Given the description of an element on the screen output the (x, y) to click on. 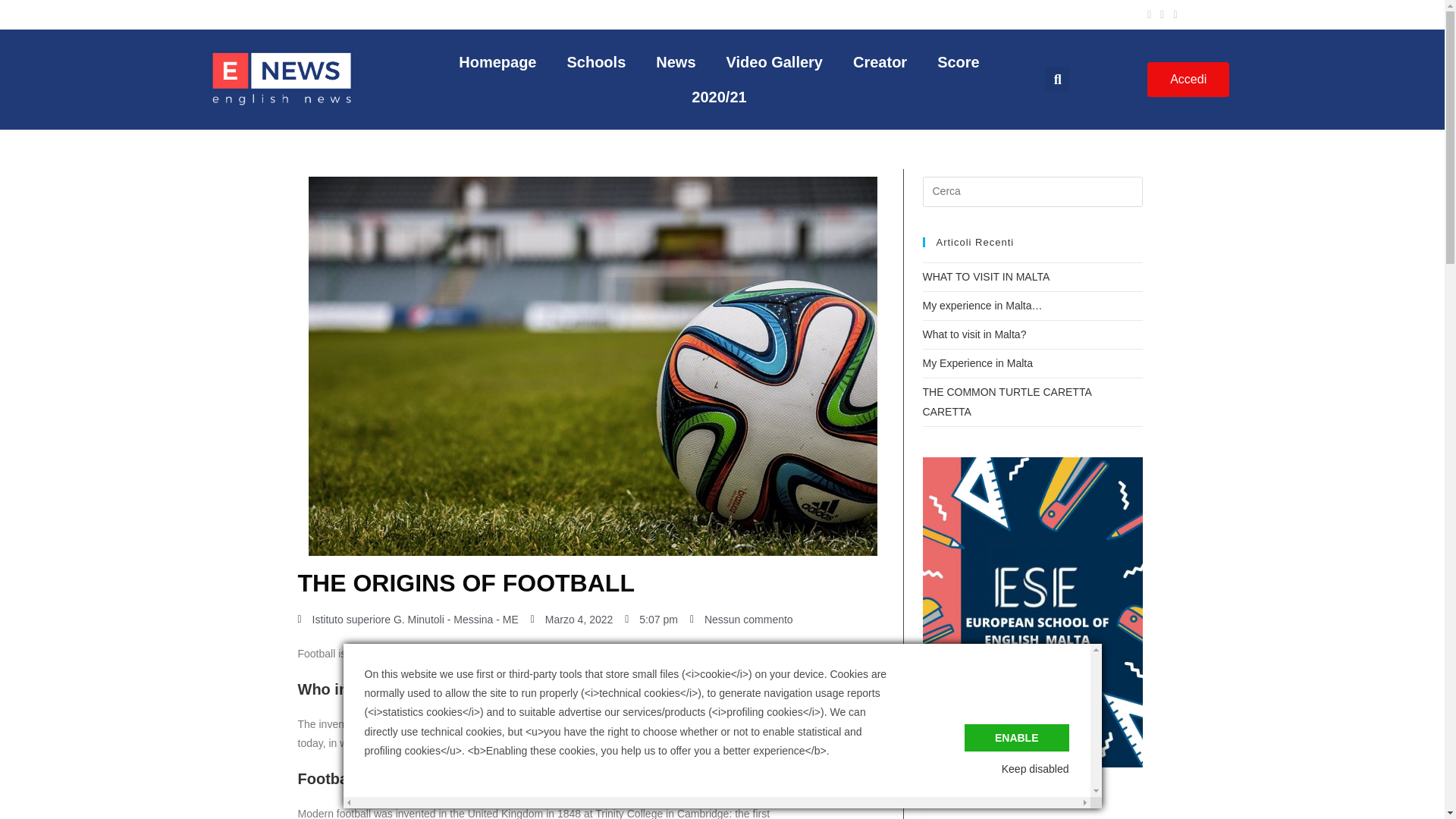
Marzo 4, 2022 (571, 619)
Istituto superiore G. Minutoli - Messina - ME (407, 619)
Creator (879, 62)
Accedi (1187, 79)
Homepage (497, 62)
Nessun commento (741, 619)
Video Gallery (774, 62)
News (675, 62)
WHAT TO VISIT IN MALTA (985, 276)
Schools (595, 62)
